Given the description of an element on the screen output the (x, y) to click on. 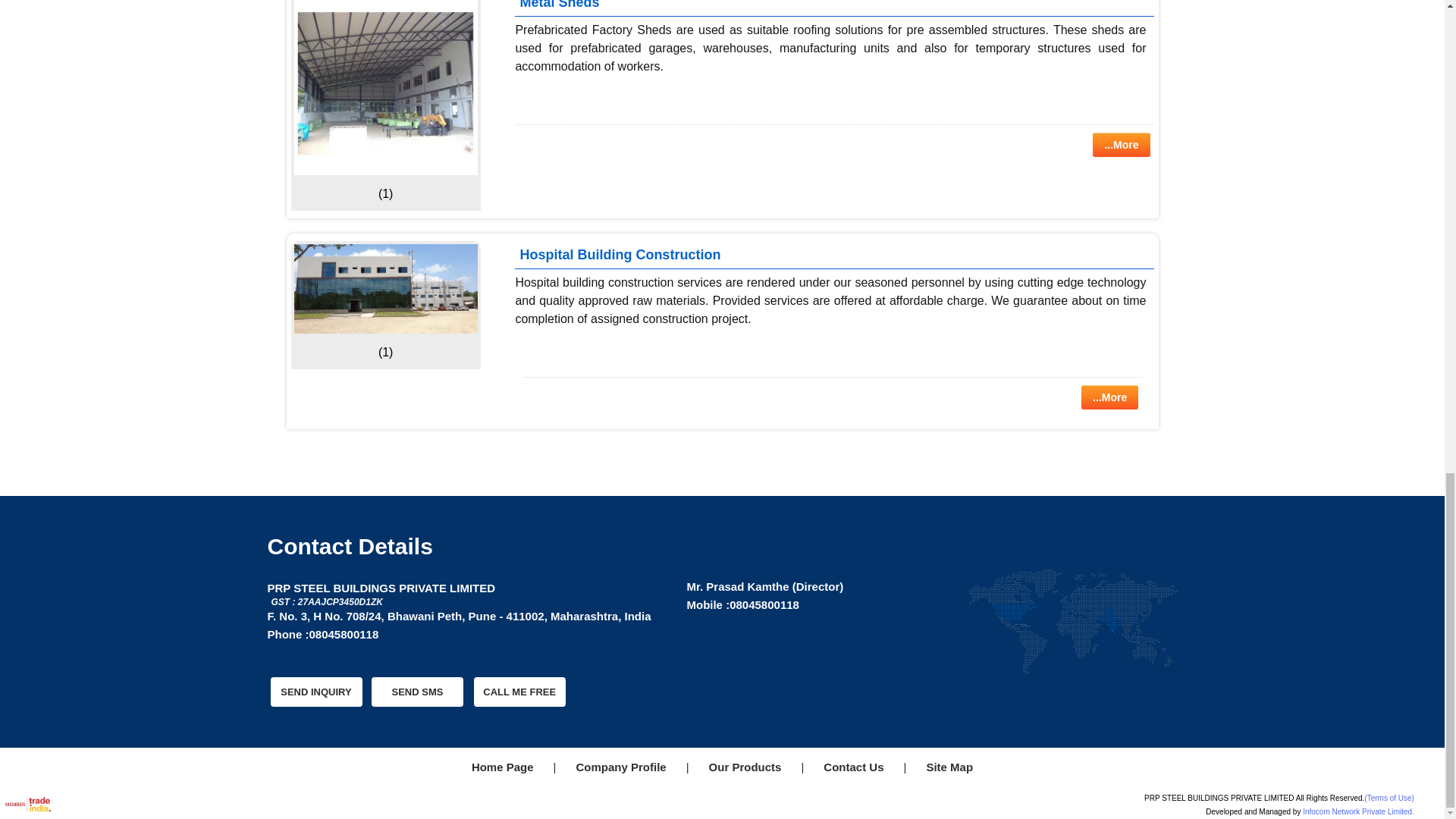
Hospital Building Construction (385, 288)
Metal Sheds (385, 87)
